Given the description of an element on the screen output the (x, y) to click on. 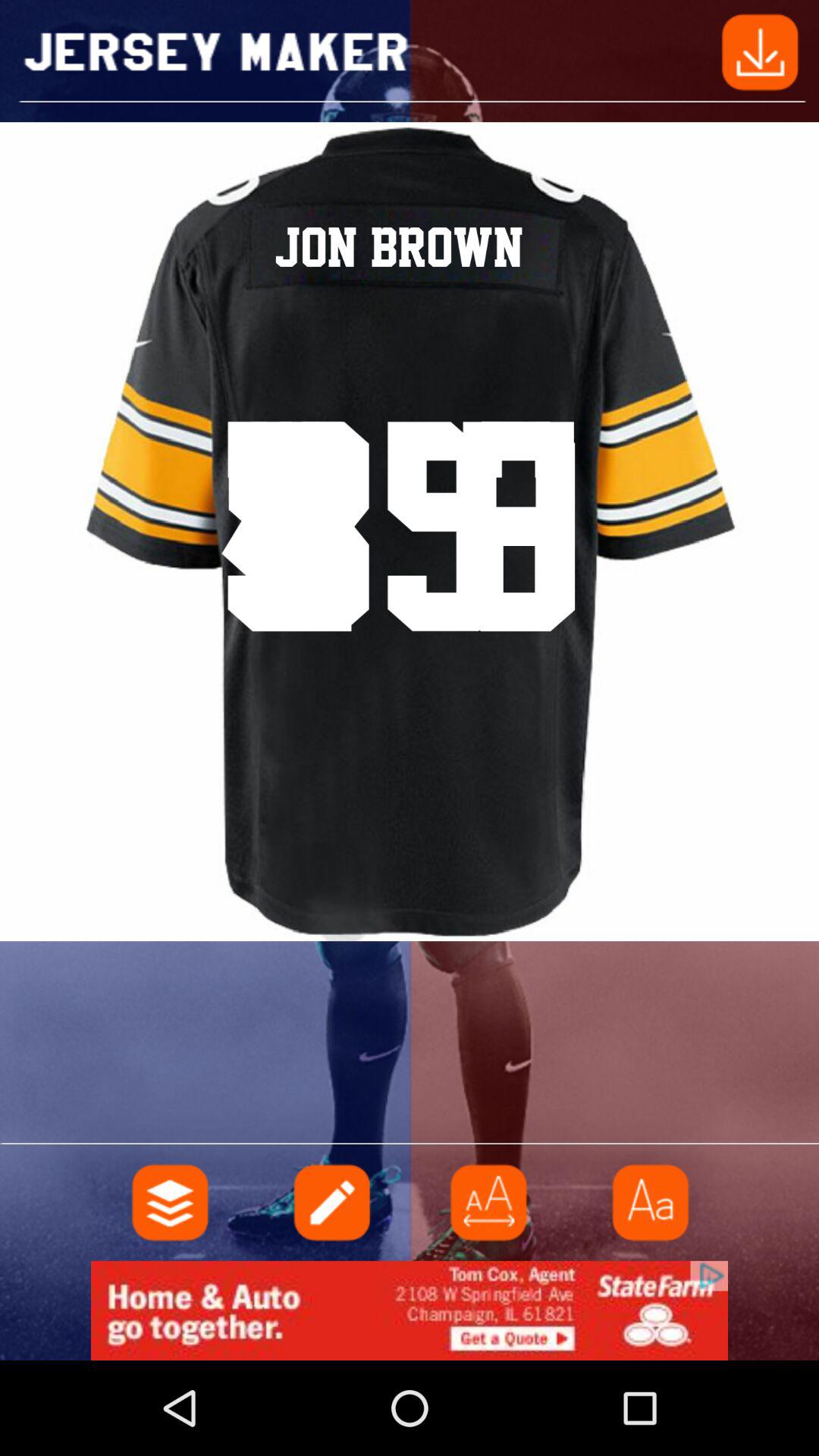
to edit something (329, 1202)
